Given the description of an element on the screen output the (x, y) to click on. 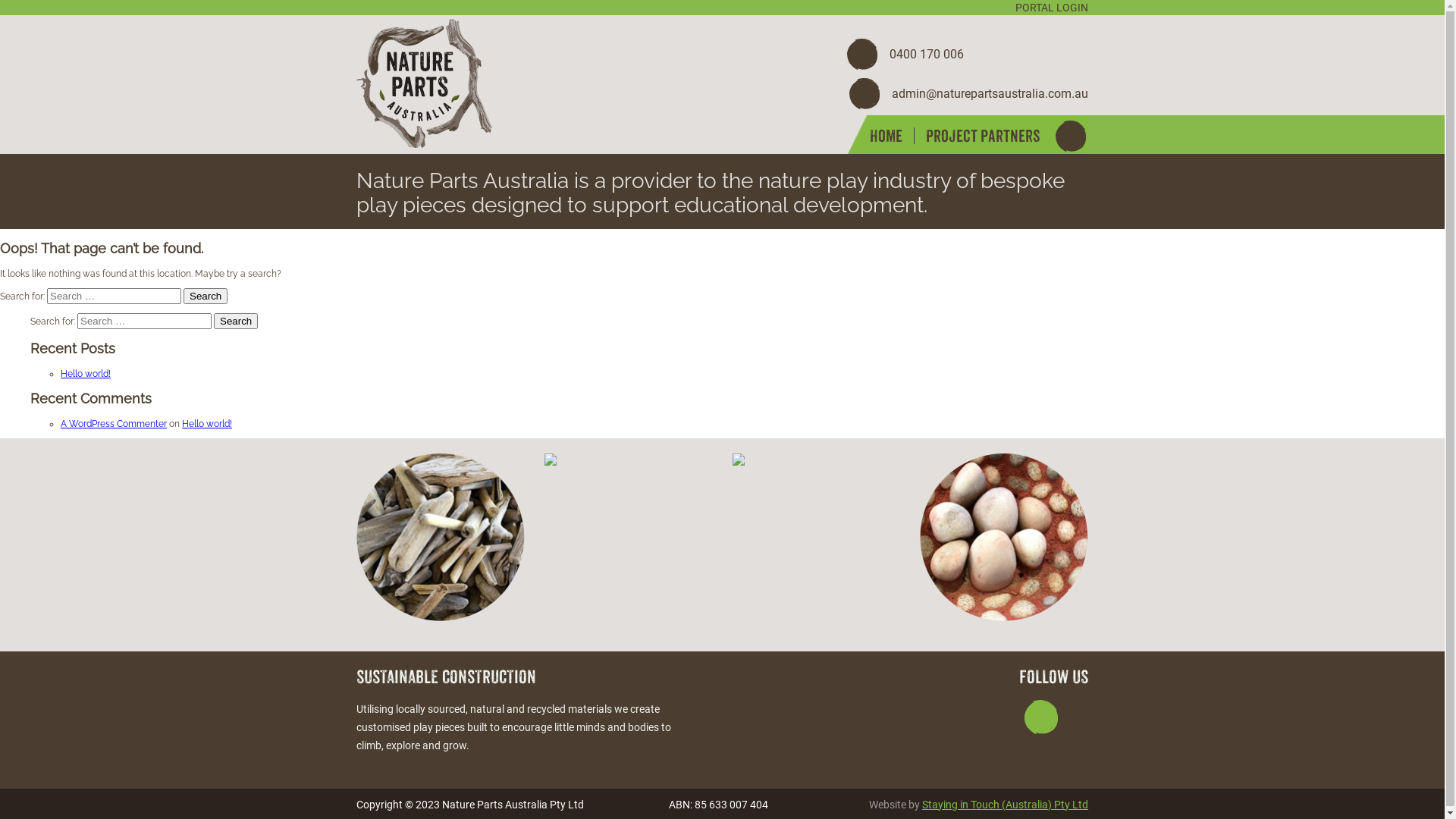
Search Element type: text (235, 321)
Home Element type: text (885, 135)
PORTAL LOGIN Element type: text (1051, 7)
Search Element type: text (205, 296)
0400 170 006 Element type: text (967, 53)
admin@naturepartsaustralia.com.au Element type: text (967, 93)
Hello world! Element type: text (85, 373)
Hello world! Element type: text (207, 423)
Staying in Touch (Australia) Pty Ltd Element type: text (1005, 803)
Project partners Element type: text (982, 135)
A WordPress Commenter Element type: text (113, 423)
